Given the description of an element on the screen output the (x, y) to click on. 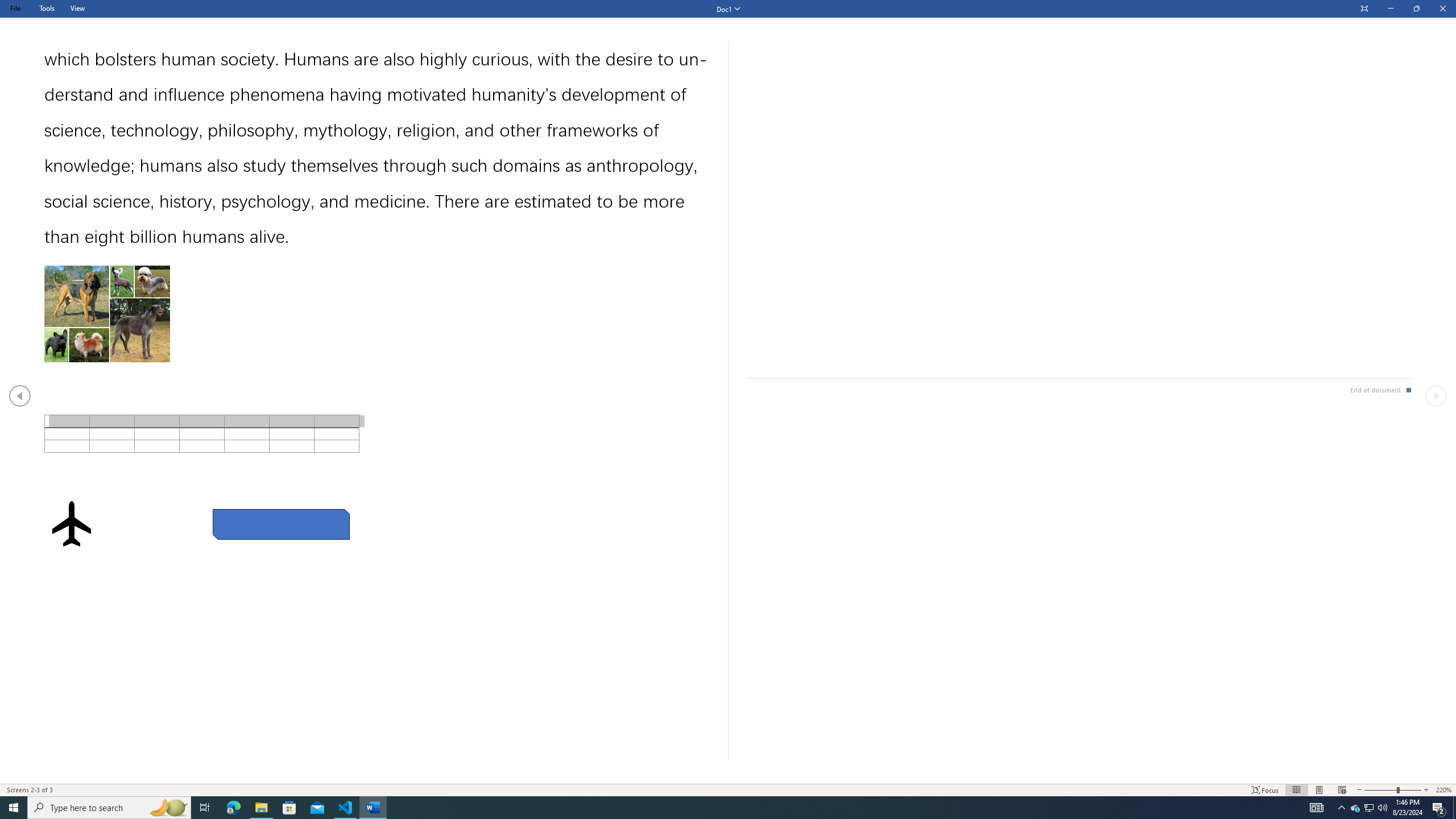
Tools (46, 8)
Morphological variation in six dogs (106, 313)
